Given the description of an element on the screen output the (x, y) to click on. 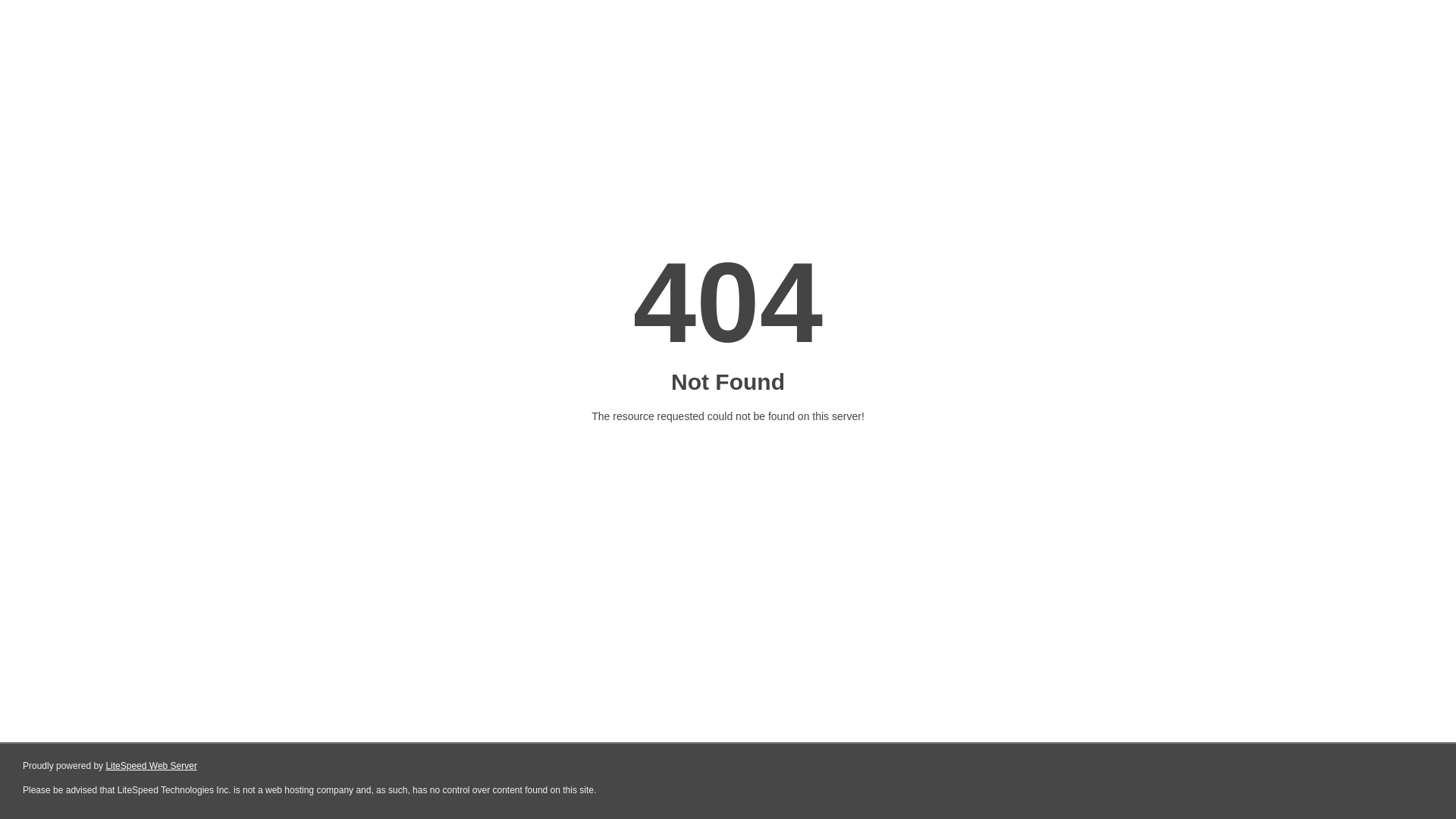
LiteSpeed Web Server Element type: text (151, 765)
